Given the description of an element on the screen output the (x, y) to click on. 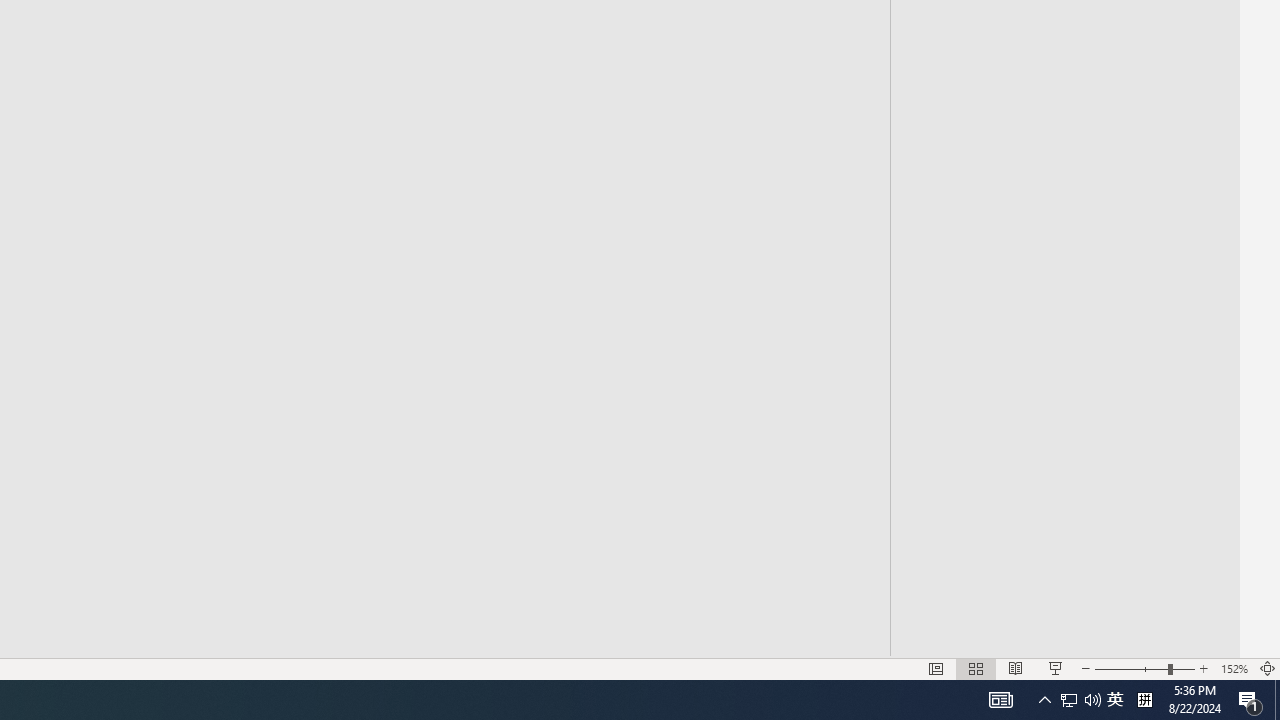
Zoom 152% (1234, 668)
